Given the description of an element on the screen output the (x, y) to click on. 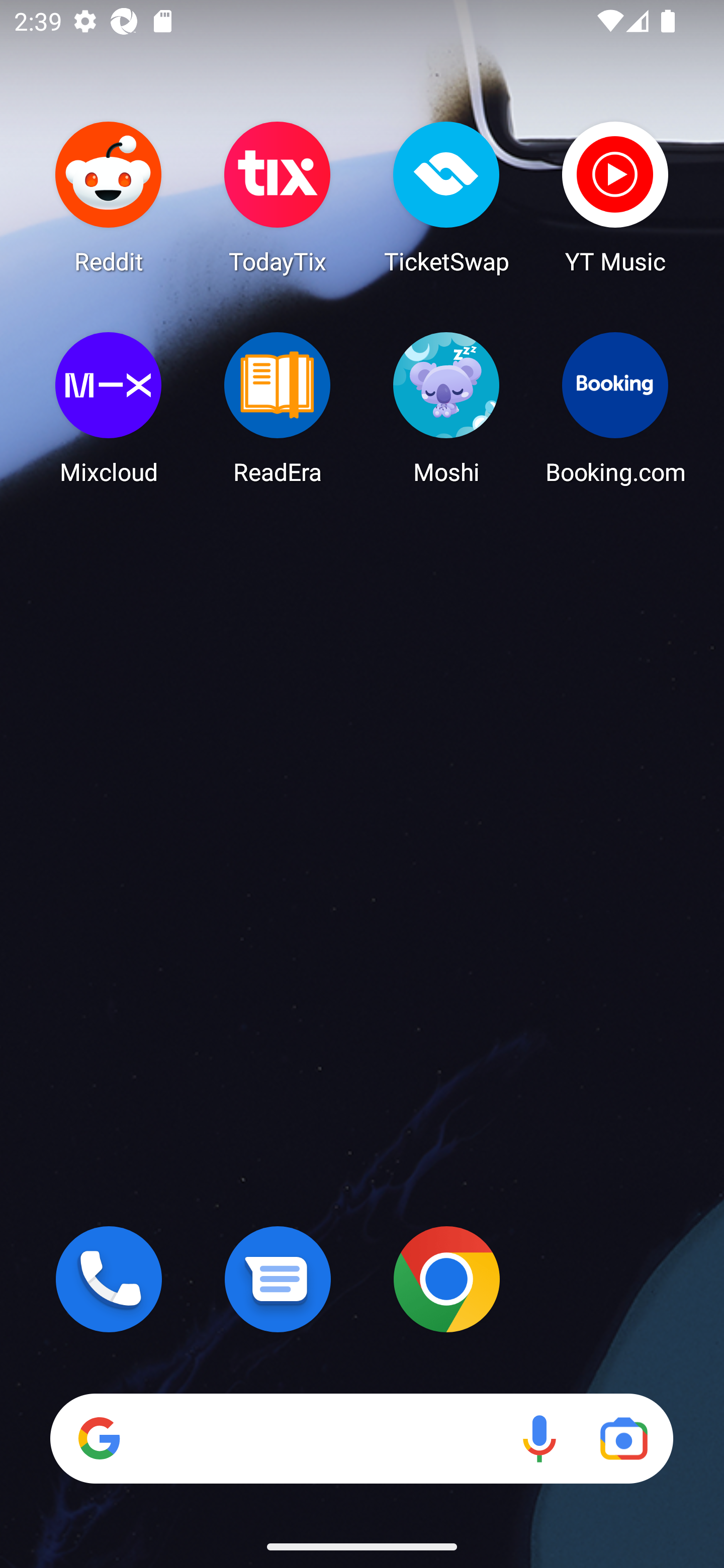
Reddit (108, 196)
TodayTix (277, 196)
TicketSwap (445, 196)
YT Music (615, 196)
Mixcloud (108, 407)
ReadEra (277, 407)
Moshi (445, 407)
Booking.com (615, 407)
Phone (108, 1279)
Messages (277, 1279)
Chrome (446, 1279)
Search Voice search Google Lens (361, 1438)
Voice search (539, 1438)
Google Lens (623, 1438)
